Given the description of an element on the screen output the (x, y) to click on. 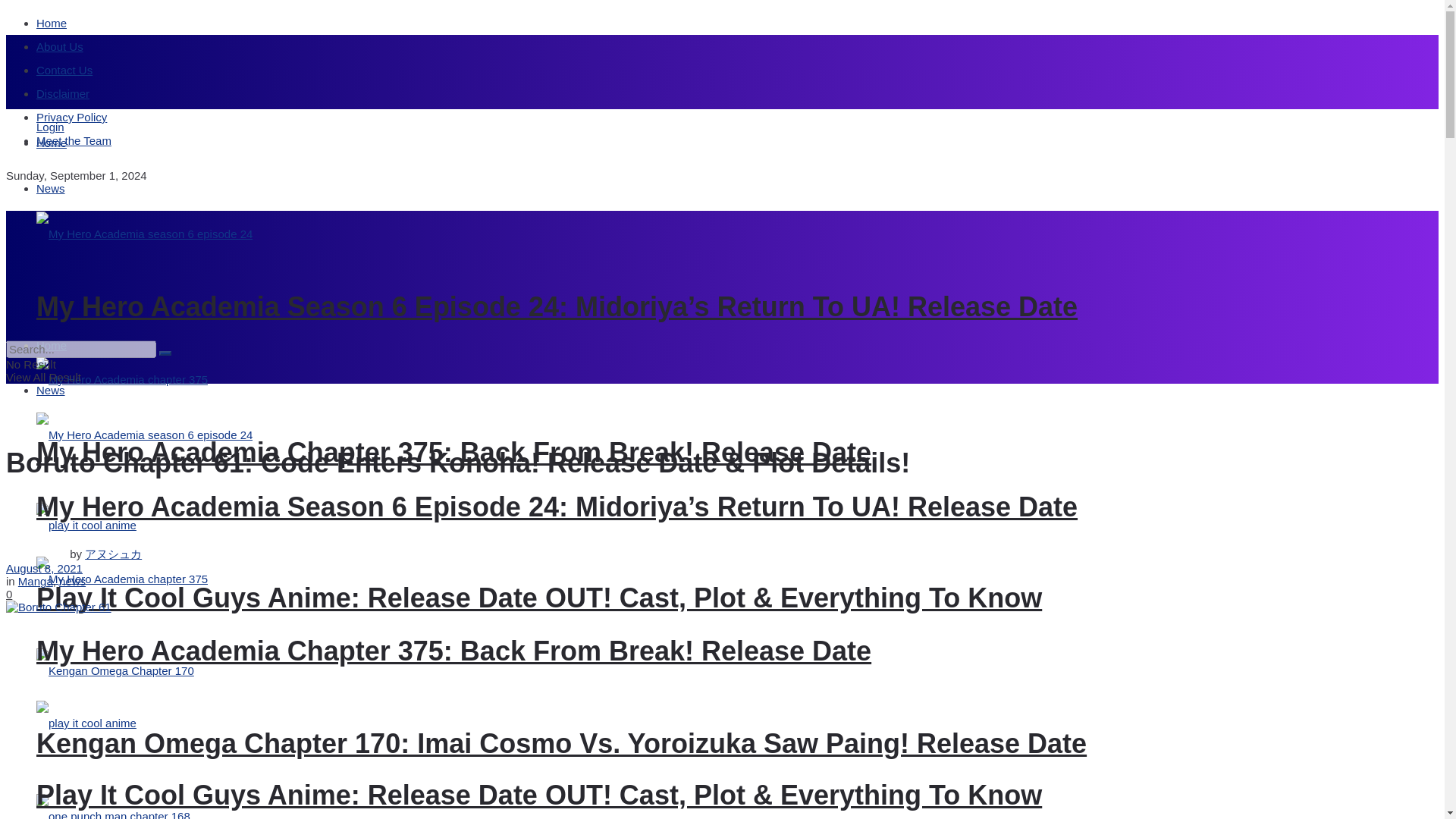
Login (50, 126)
Privacy Policy (71, 116)
Contact Us (64, 69)
Meet the Team (74, 140)
Disclaimer (62, 92)
About Us (59, 46)
Home (51, 142)
News (50, 187)
My Hero Academia Chapter 375: Back From Break! Release Date (453, 451)
